Given the description of an element on the screen output the (x, y) to click on. 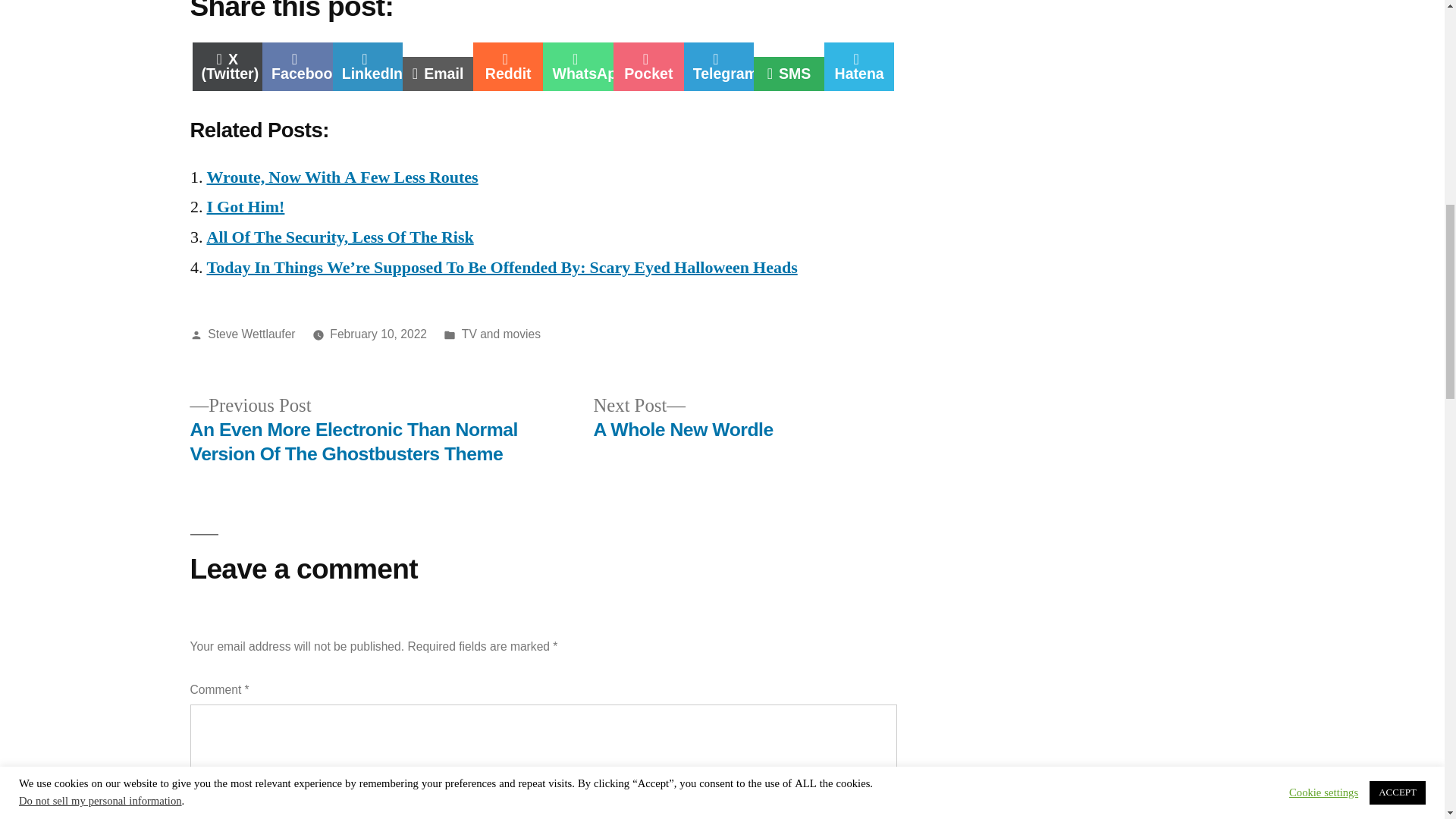
TV and movies (500, 333)
All Of The Security, Less Of The Risk (682, 417)
I Got Him! (339, 237)
All Of The Security, Less Of The Risk (508, 66)
I Got Him! (648, 66)
Wroute, Now With A Few Less Routes (297, 66)
February 10, 2022 (244, 206)
Steve Wettlaufer (339, 237)
